Given the description of an element on the screen output the (x, y) to click on. 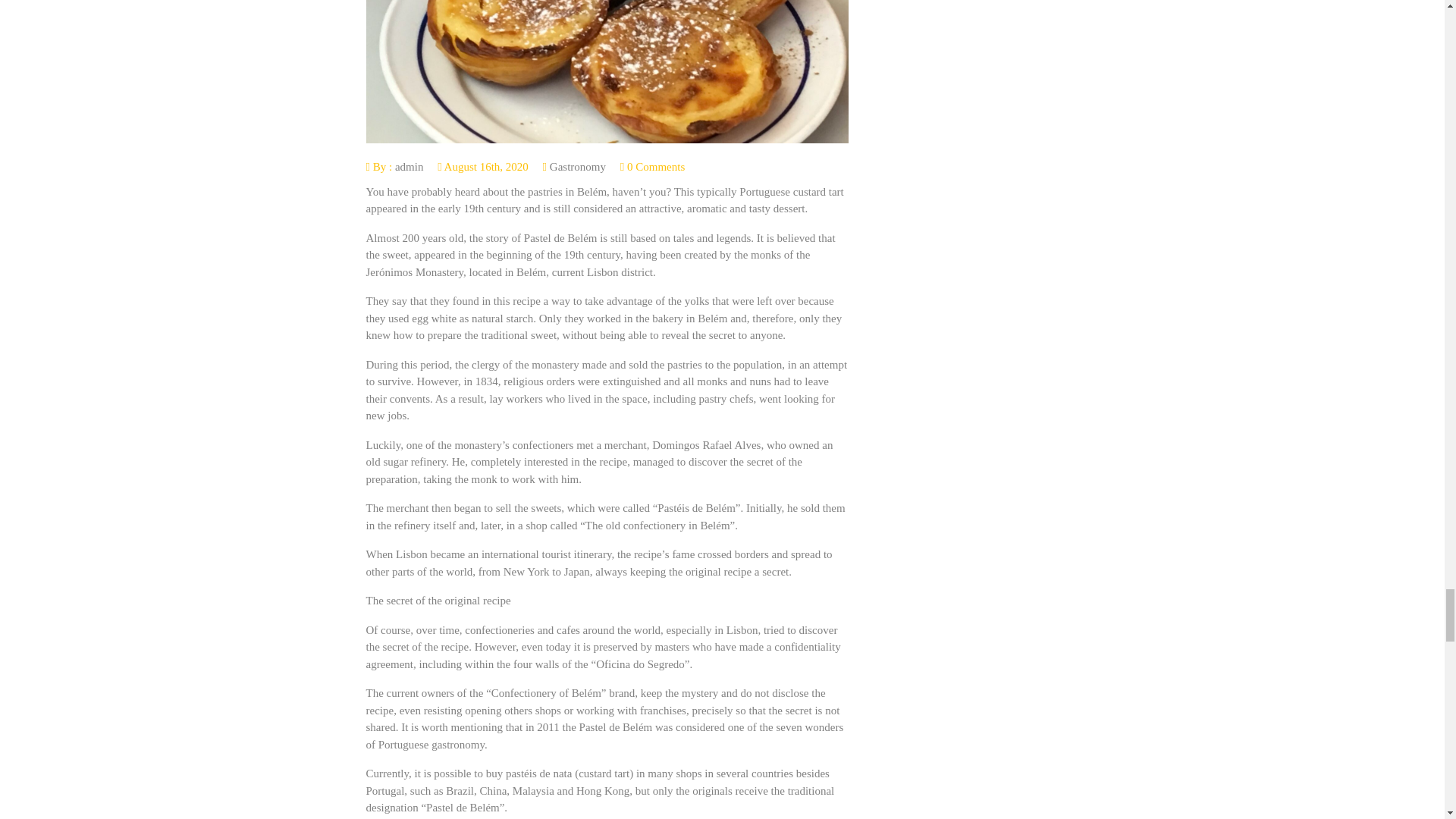
Gastronomy (577, 166)
admin (408, 166)
Posts by admin (408, 166)
